Given the description of an element on the screen output the (x, y) to click on. 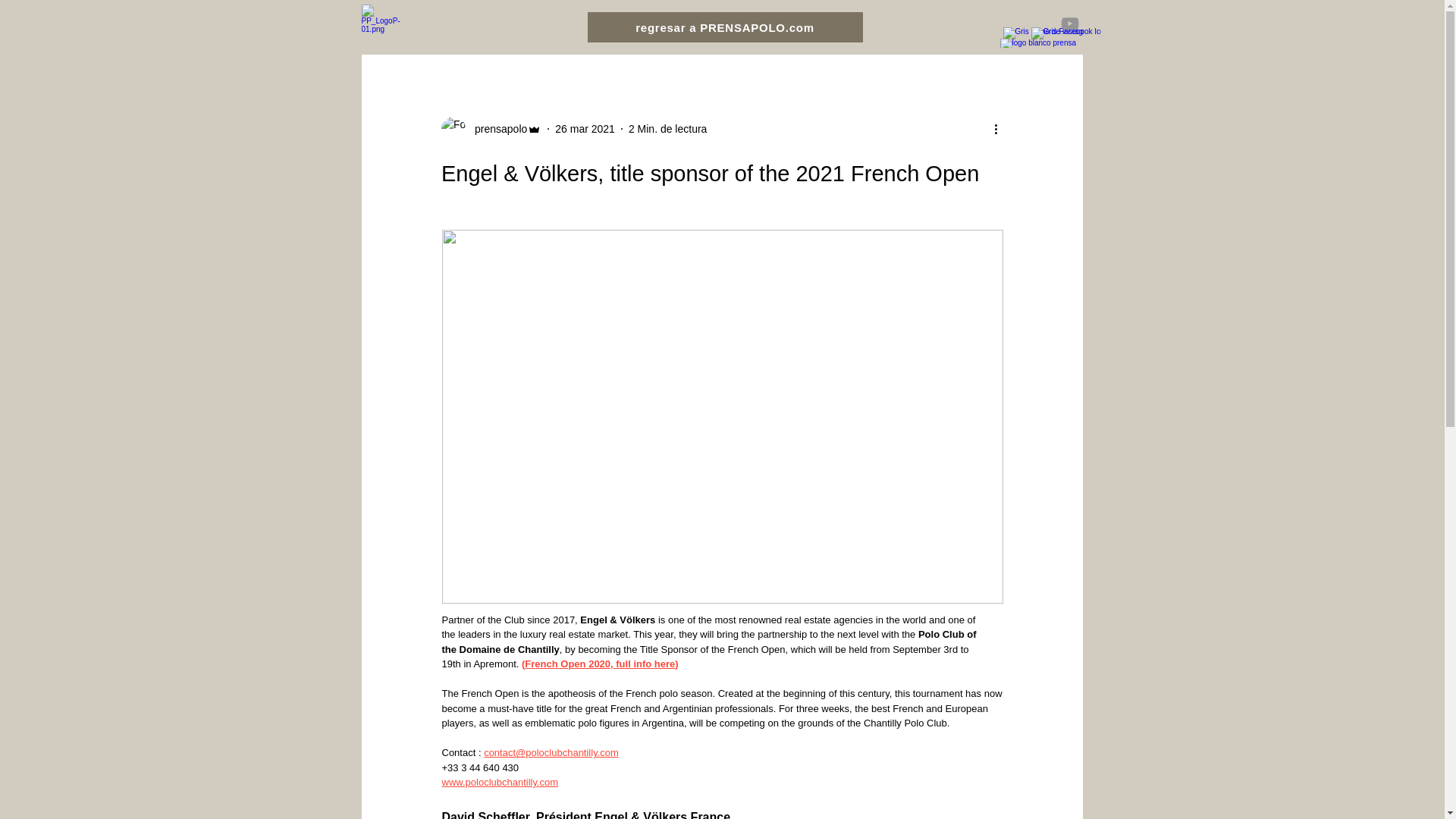
www.poloclubchantilly.com (499, 781)
prensapolo (496, 129)
26 mar 2021 (584, 128)
regresar a PRENSAPOLO.com (723, 27)
2 Min. de lectura (667, 128)
French Open 2020, full info here (599, 663)
